Given the description of an element on the screen output the (x, y) to click on. 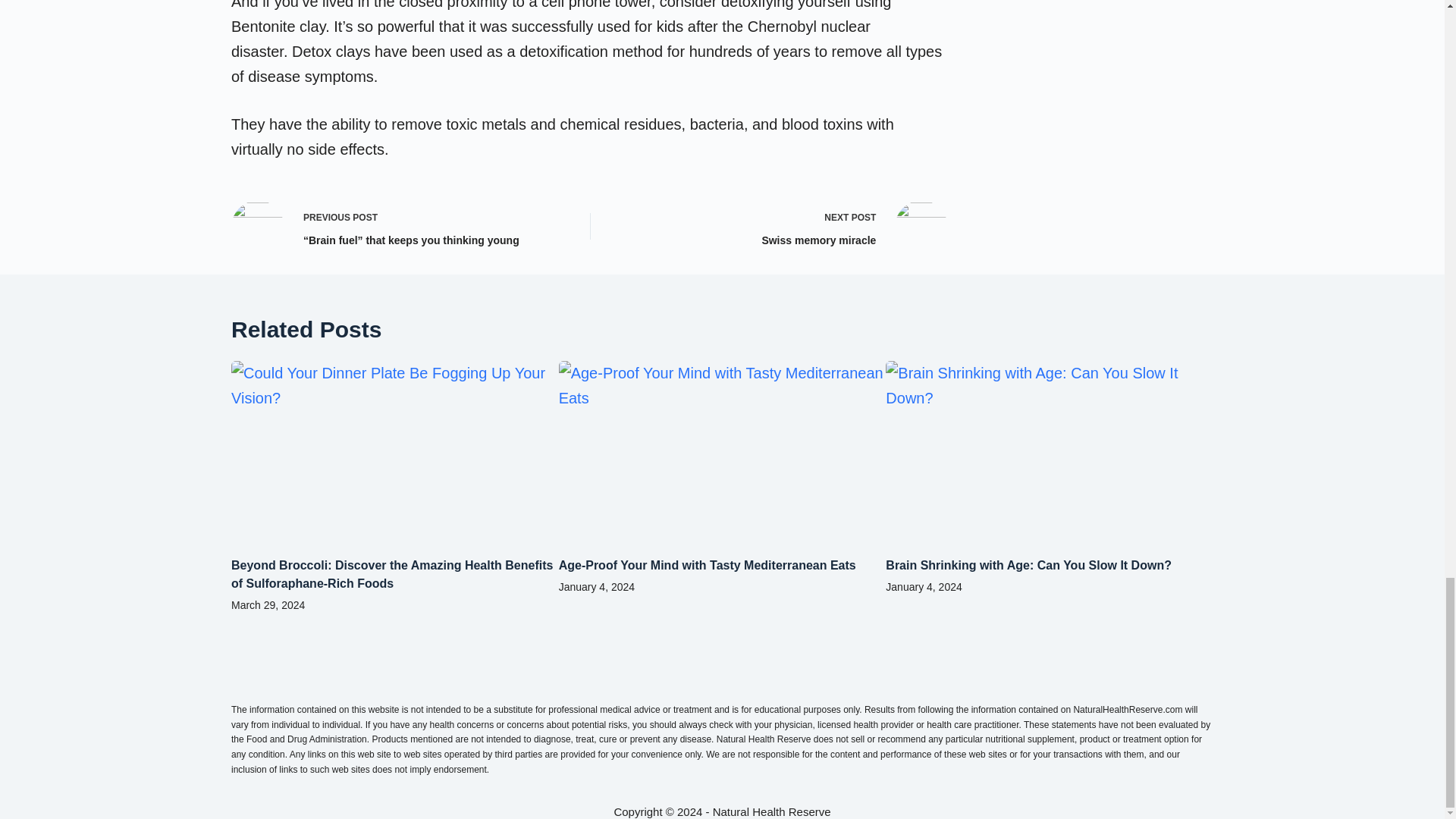
Brain Shrinking with Age: Can You Slow It Down? (1028, 564)
Age-Proof Your Mind with Tasty Mediterranean Eats (707, 564)
